Given the description of an element on the screen output the (x, y) to click on. 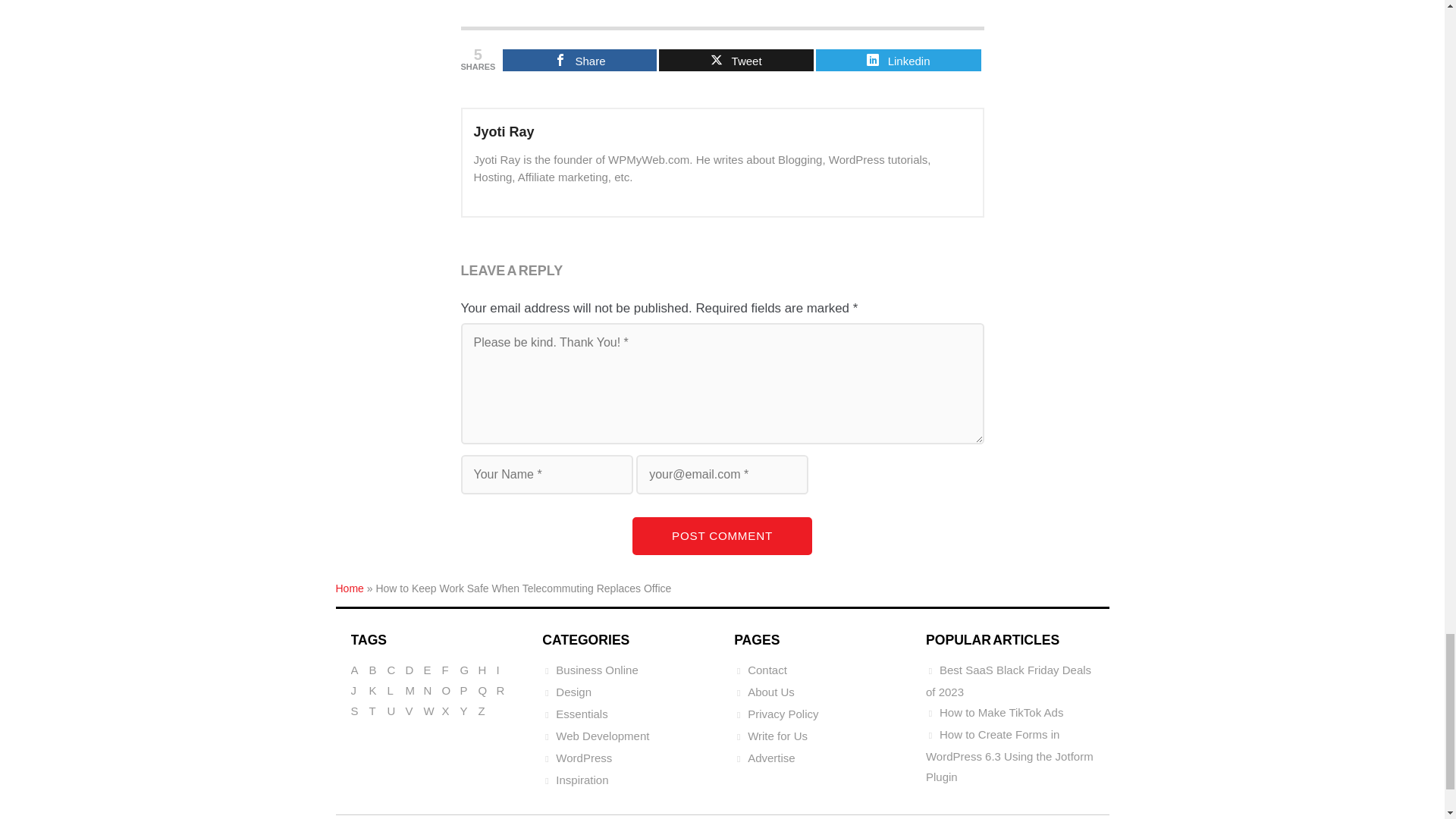
Share (579, 60)
Jyoti Ray (503, 131)
Post Comment (721, 535)
Home (348, 588)
Tweet (735, 60)
Linkedin (898, 60)
Post Comment (721, 535)
